Given the description of an element on the screen output the (x, y) to click on. 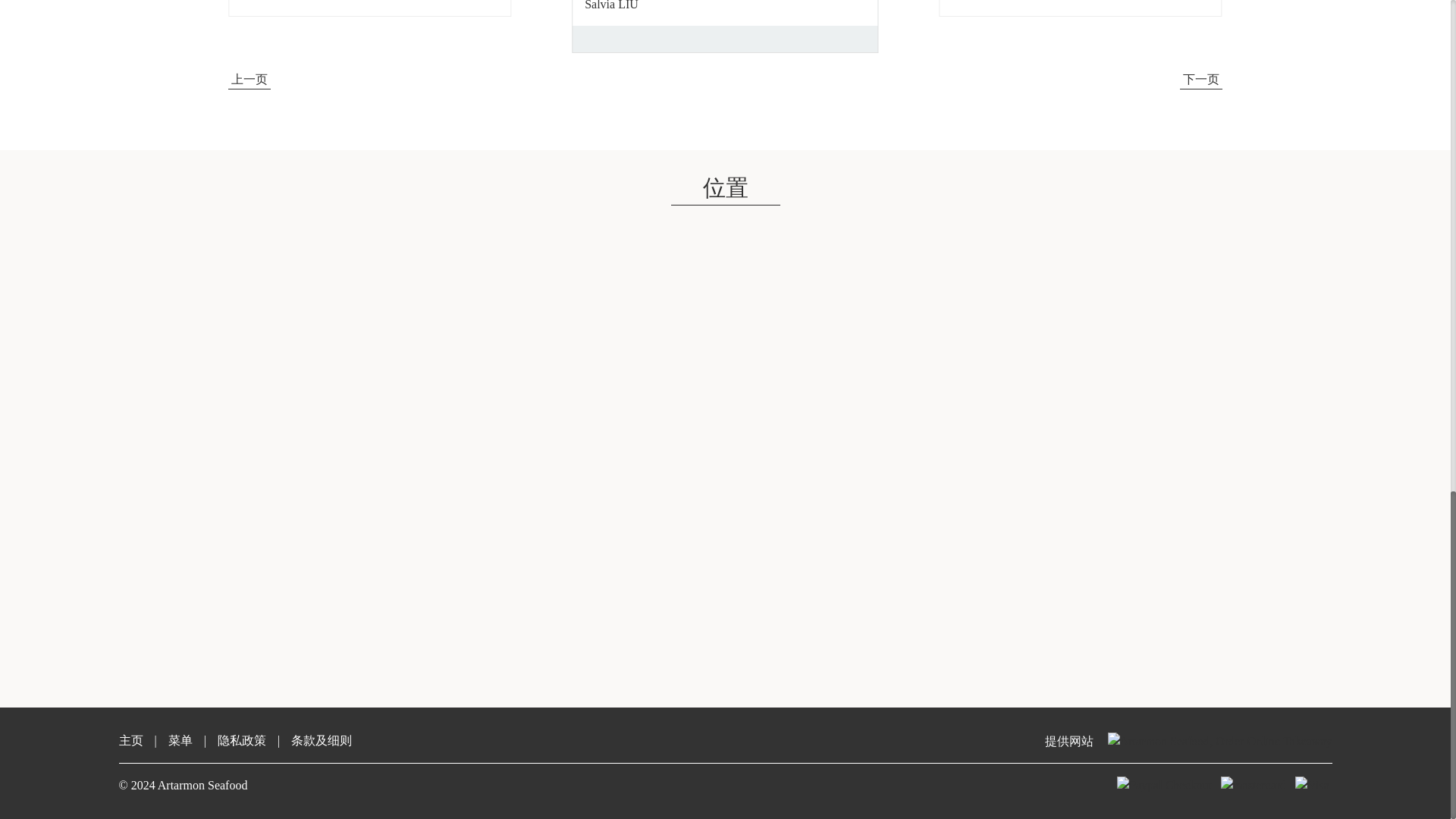
Paypal Checkout (1163, 785)
MasterCard (1253, 785)
Visa (1311, 785)
